Given the description of an element on the screen output the (x, y) to click on. 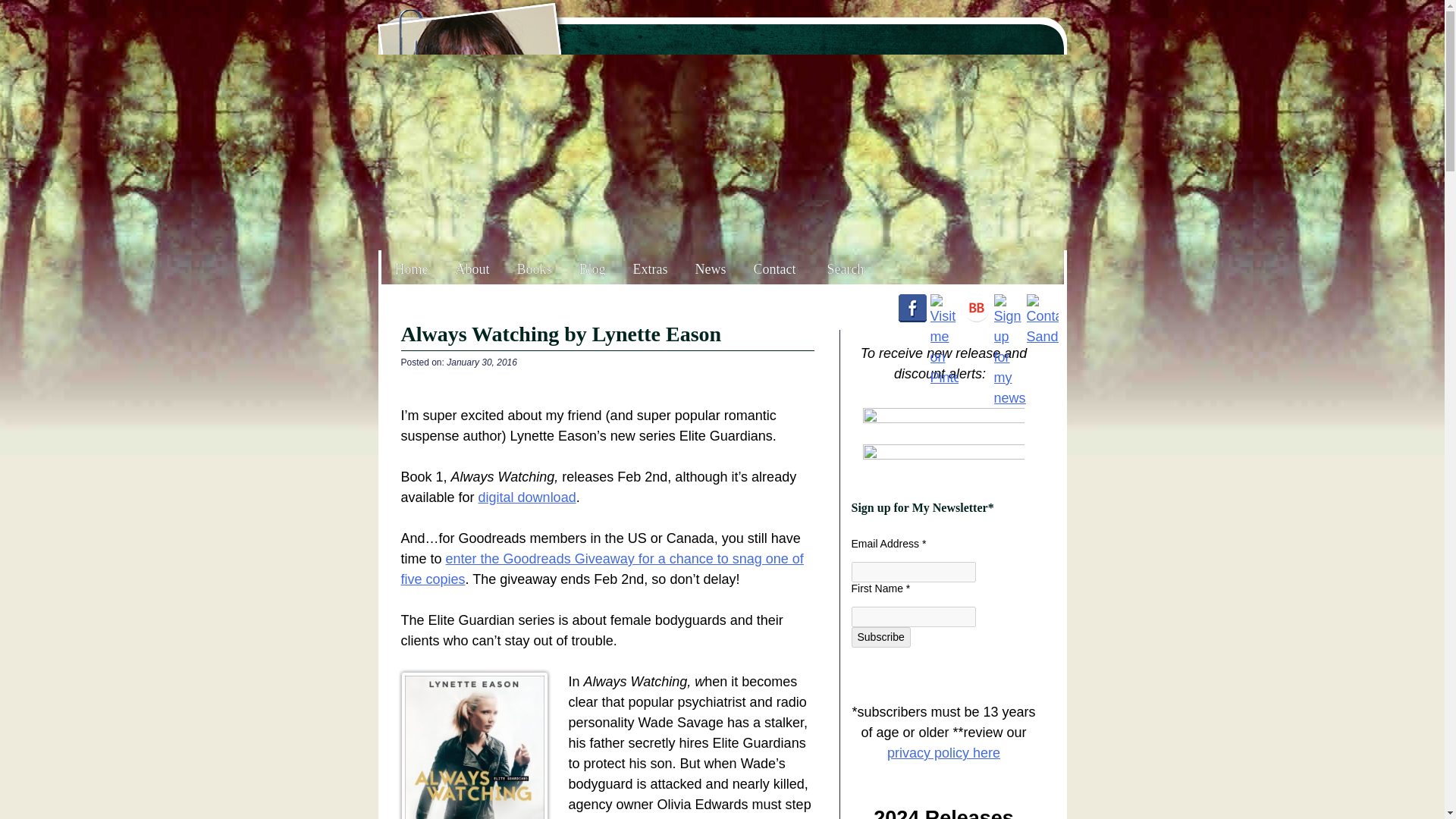
Books (534, 269)
Home (410, 269)
Contact Sandra (1042, 336)
Subscribe (880, 637)
About (471, 269)
Visit me on Book Bub. (975, 308)
Follow me on Facebook. (912, 308)
